Given the description of an element on the screen output the (x, y) to click on. 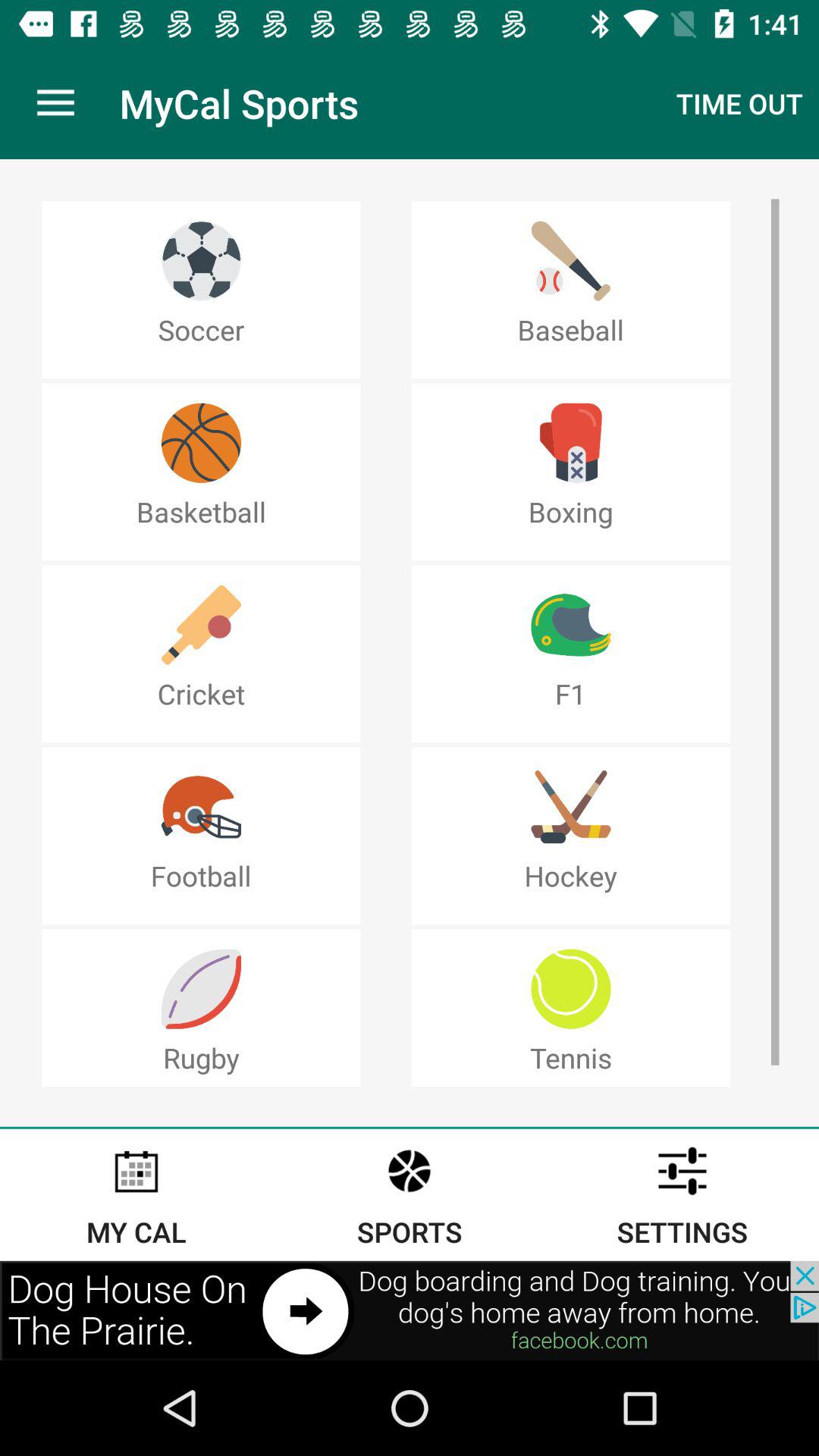
go to advertisement (409, 1310)
